Given the description of an element on the screen output the (x, y) to click on. 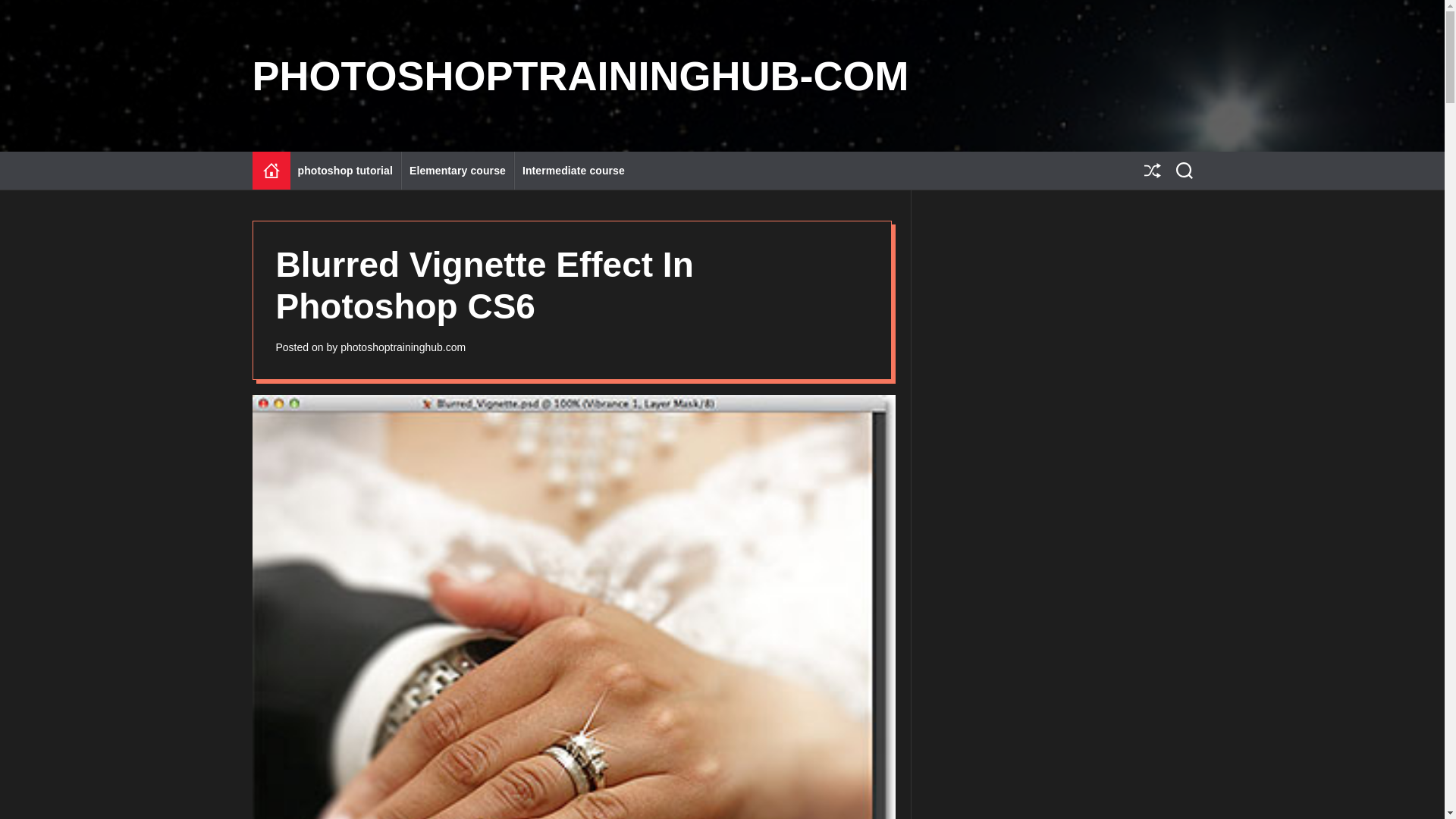
photoshoptraininghub.com (402, 346)
PHOTOSHOPTRAININGHUB-COM (579, 75)
photoshop tutorial (344, 170)
Elementary course (457, 170)
Intermediate course (572, 170)
